Given the description of an element on the screen output the (x, y) to click on. 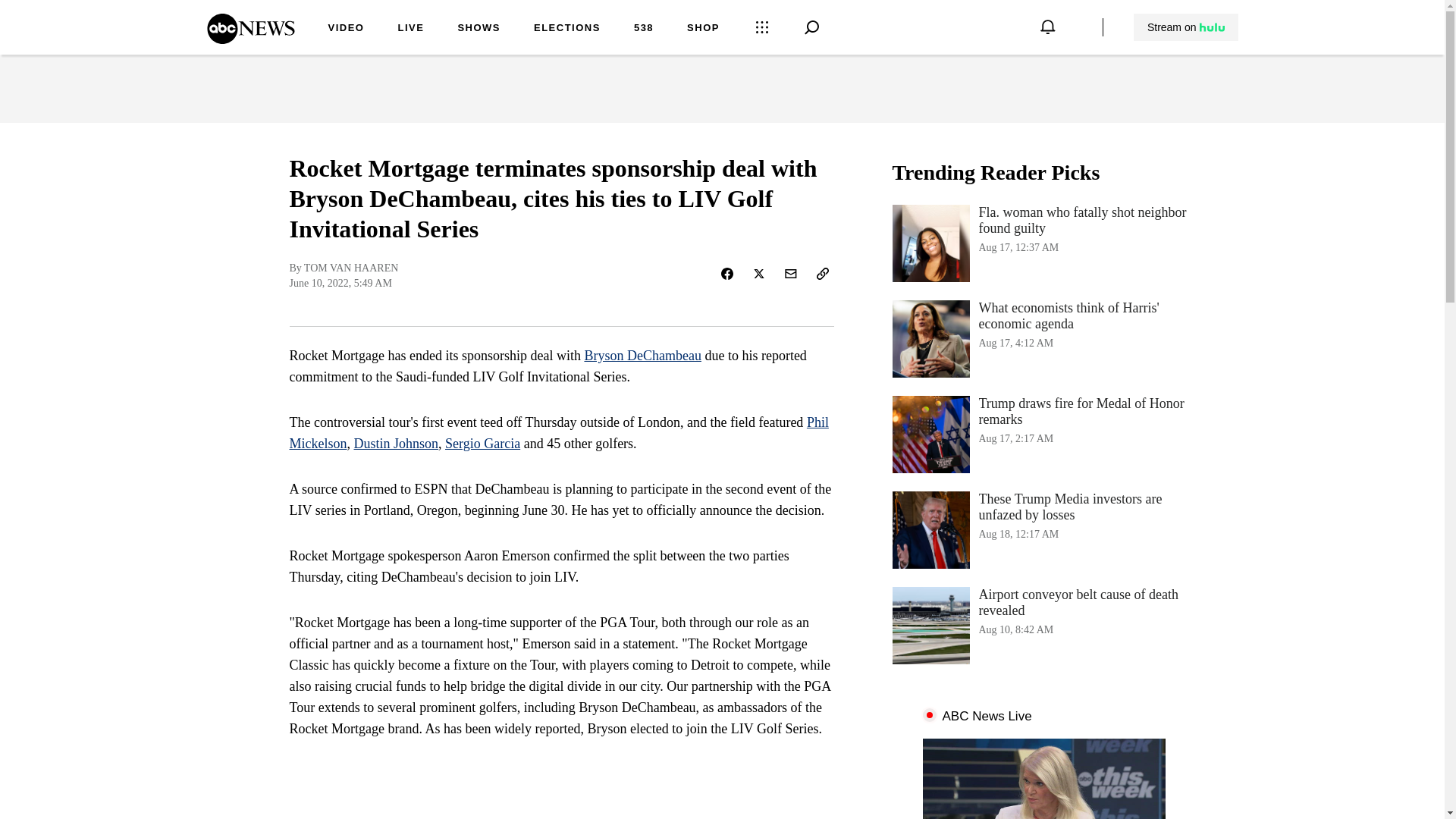
SHOWS (478, 28)
538 (643, 28)
LIVE (410, 28)
Sergio Garcia (482, 443)
Bryson DeChambeau (641, 355)
Dustin Johnson (1043, 434)
ABC News (395, 443)
Stream on (250, 38)
